Given the description of an element on the screen output the (x, y) to click on. 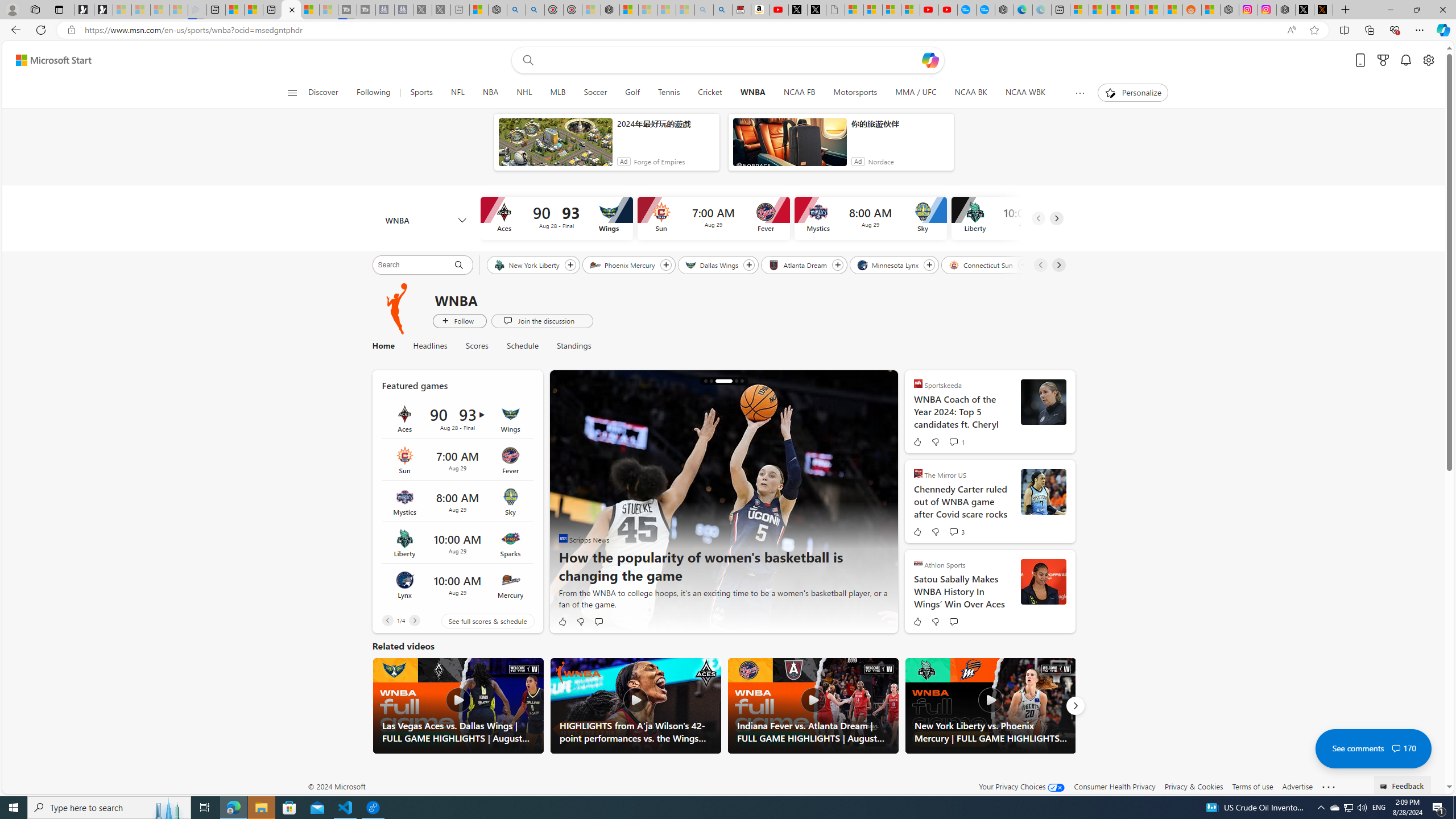
Nordace (@NordaceOfficial) / X (1304, 9)
